Given the description of an element on the screen output the (x, y) to click on. 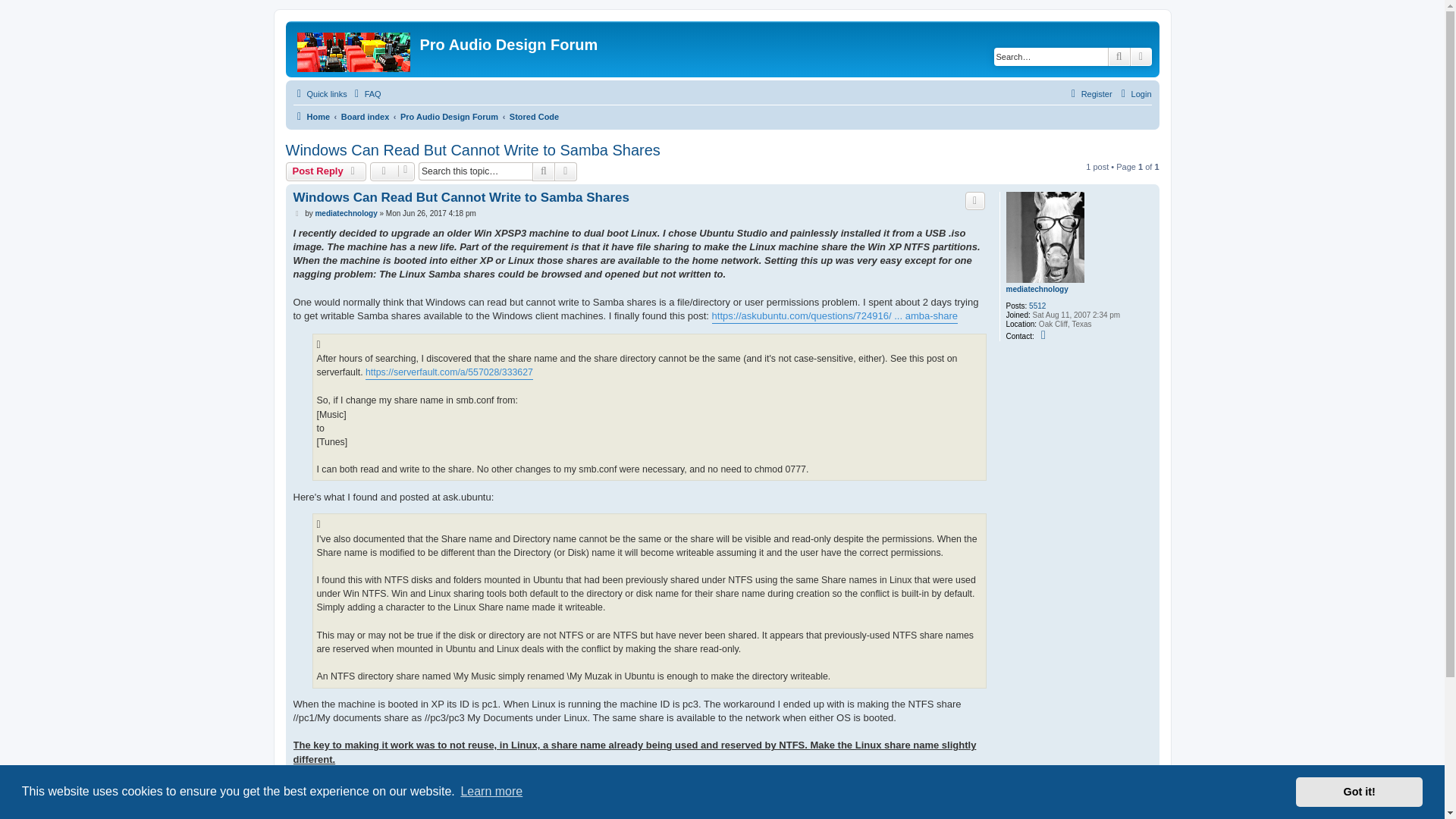
Search (1119, 56)
Post Reply (325, 171)
Post (297, 213)
mediatechnology (1036, 289)
Board index (365, 116)
Home (311, 116)
Got it! (1358, 791)
Quote (975, 200)
Login (1134, 94)
FAQ (365, 94)
Advanced search (1141, 56)
Windows Can Read But Cannot Write to Samba Shares (460, 197)
Learn more (491, 791)
Pro Audio Design Forum (448, 116)
Register (1089, 94)
